Given the description of an element on the screen output the (x, y) to click on. 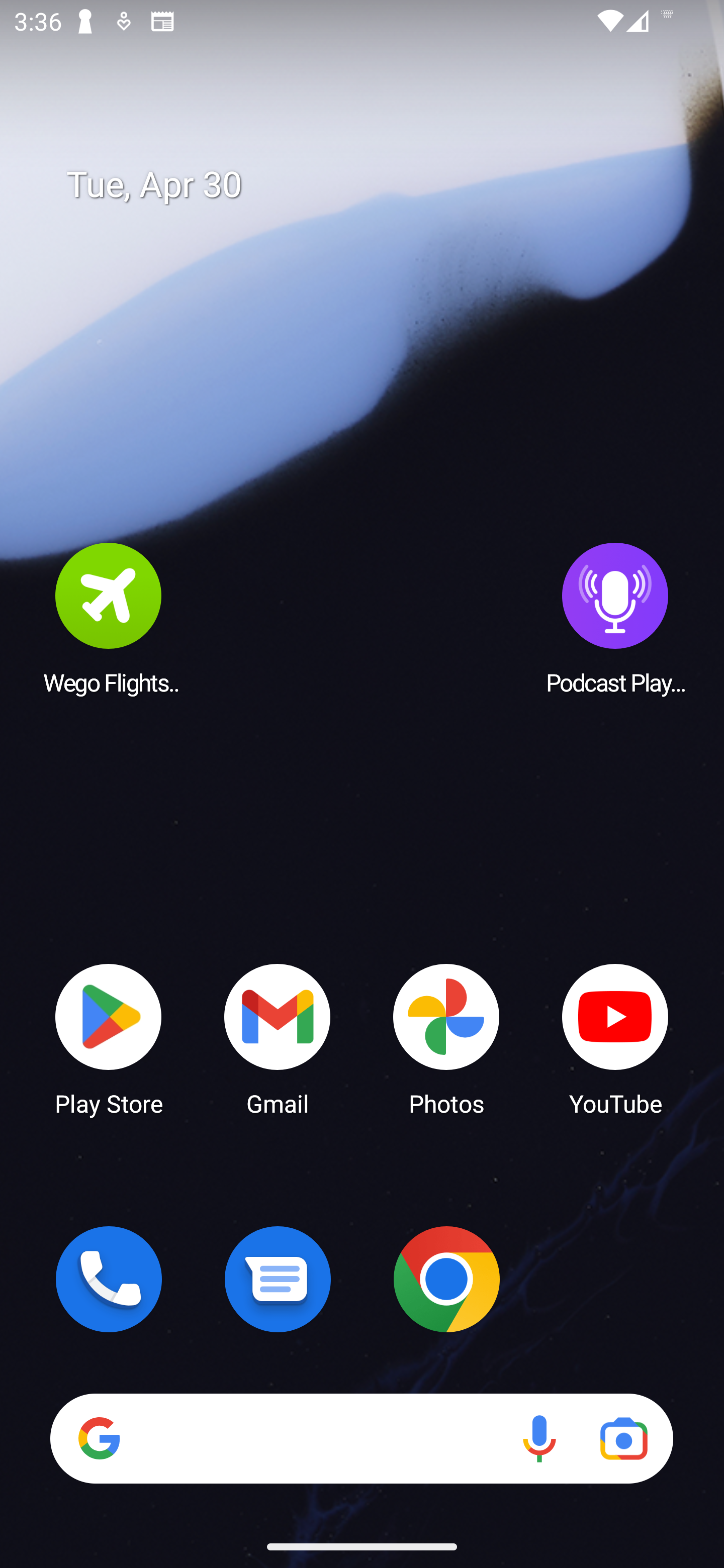
Tue, Apr 30 (375, 184)
Wego Flights & Hotels (108, 617)
Podcast Player (615, 617)
Play Store (108, 1038)
Gmail (277, 1038)
Photos (445, 1038)
YouTube (615, 1038)
Phone (108, 1279)
Messages (277, 1279)
Chrome (446, 1279)
Voice search (539, 1438)
Google Lens (623, 1438)
